Given the description of an element on the screen output the (x, y) to click on. 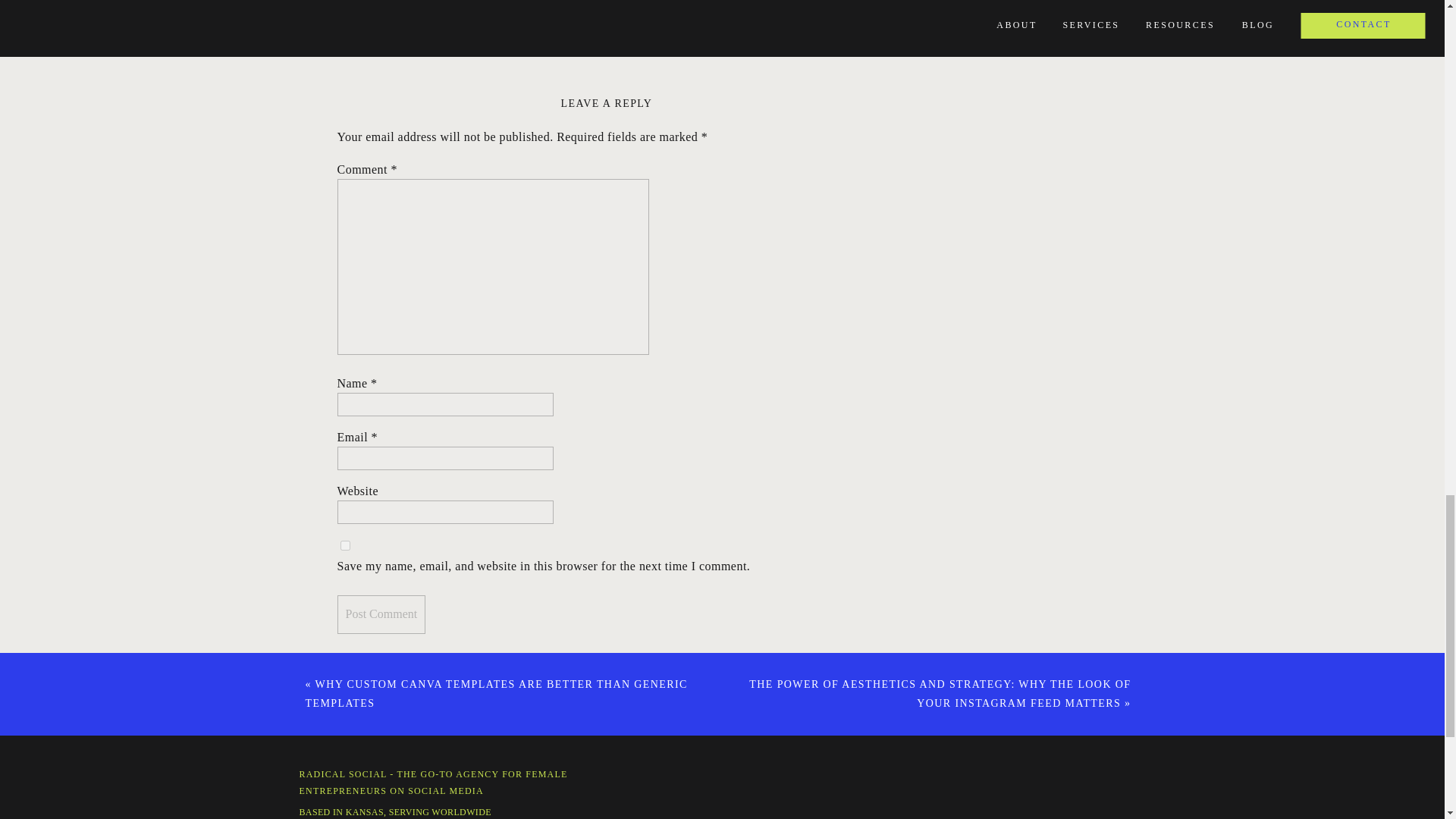
BE THE FIRST TO COMMENT (717, 41)
Post Comment (380, 614)
WHY CUSTOM CANVA TEMPLATES ARE BETTER THAN GENERIC TEMPLATES (495, 693)
Post Comment (380, 614)
yes (344, 545)
